Given the description of an element on the screen output the (x, y) to click on. 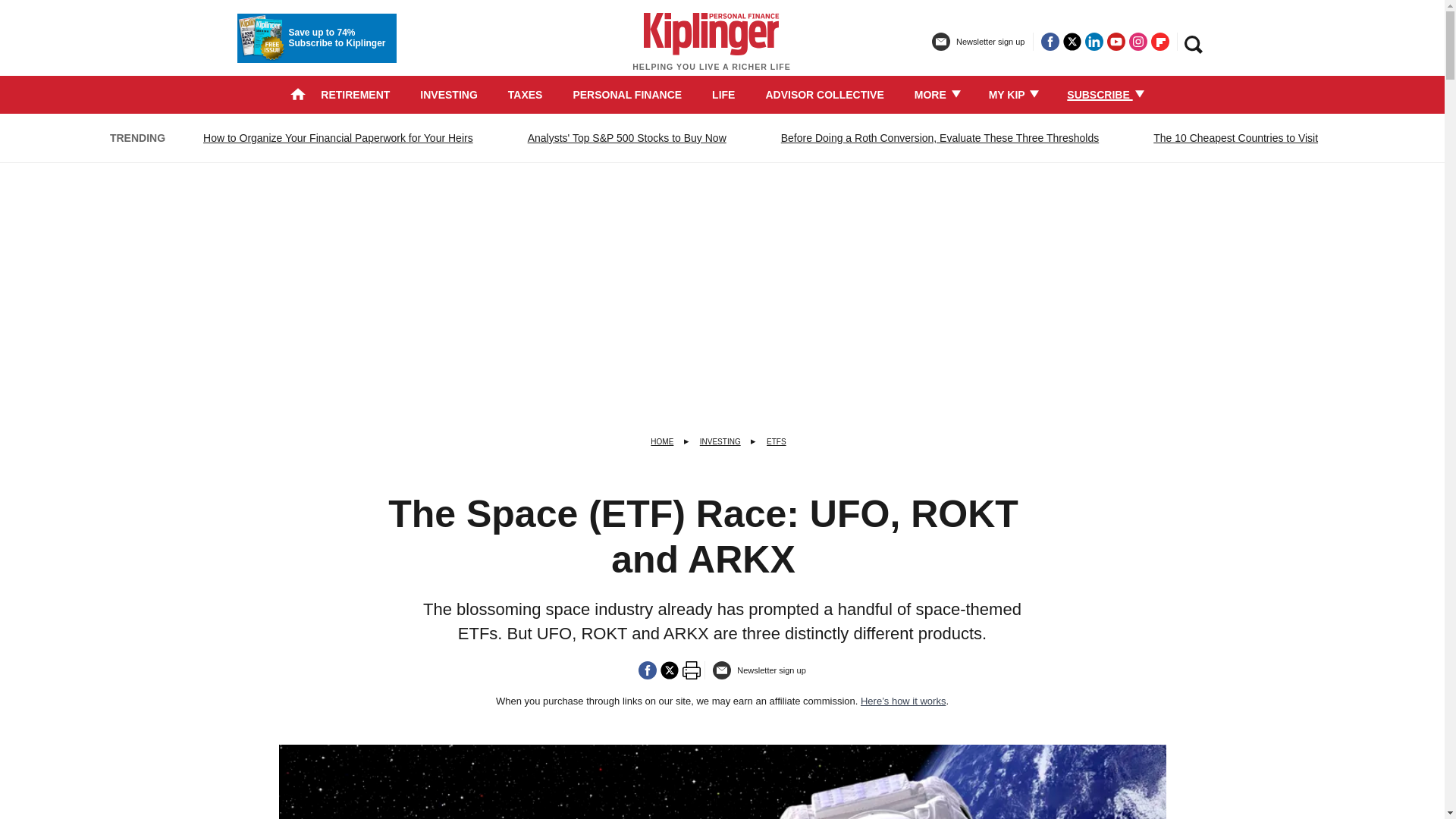
ADVISOR COLLECTIVE (824, 94)
TAXES (525, 94)
RETIREMENT (355, 94)
PERSONAL FINANCE (626, 94)
HELPING YOU LIVE A RICHER LIFE (710, 48)
LIFE (723, 94)
INVESTING (448, 94)
